Given the description of an element on the screen output the (x, y) to click on. 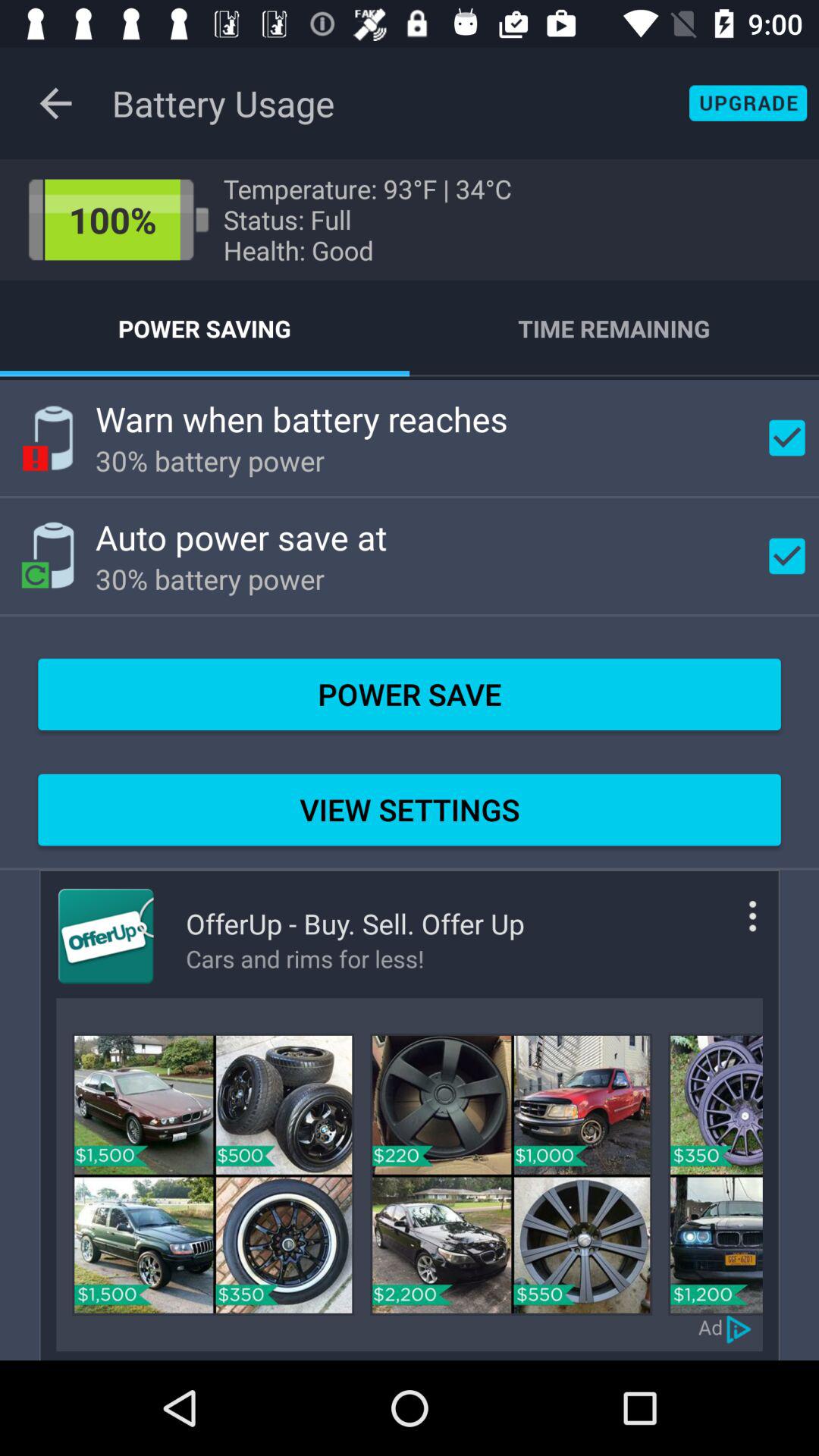
tap item next to power saving icon (614, 328)
